Given the description of an element on the screen output the (x, y) to click on. 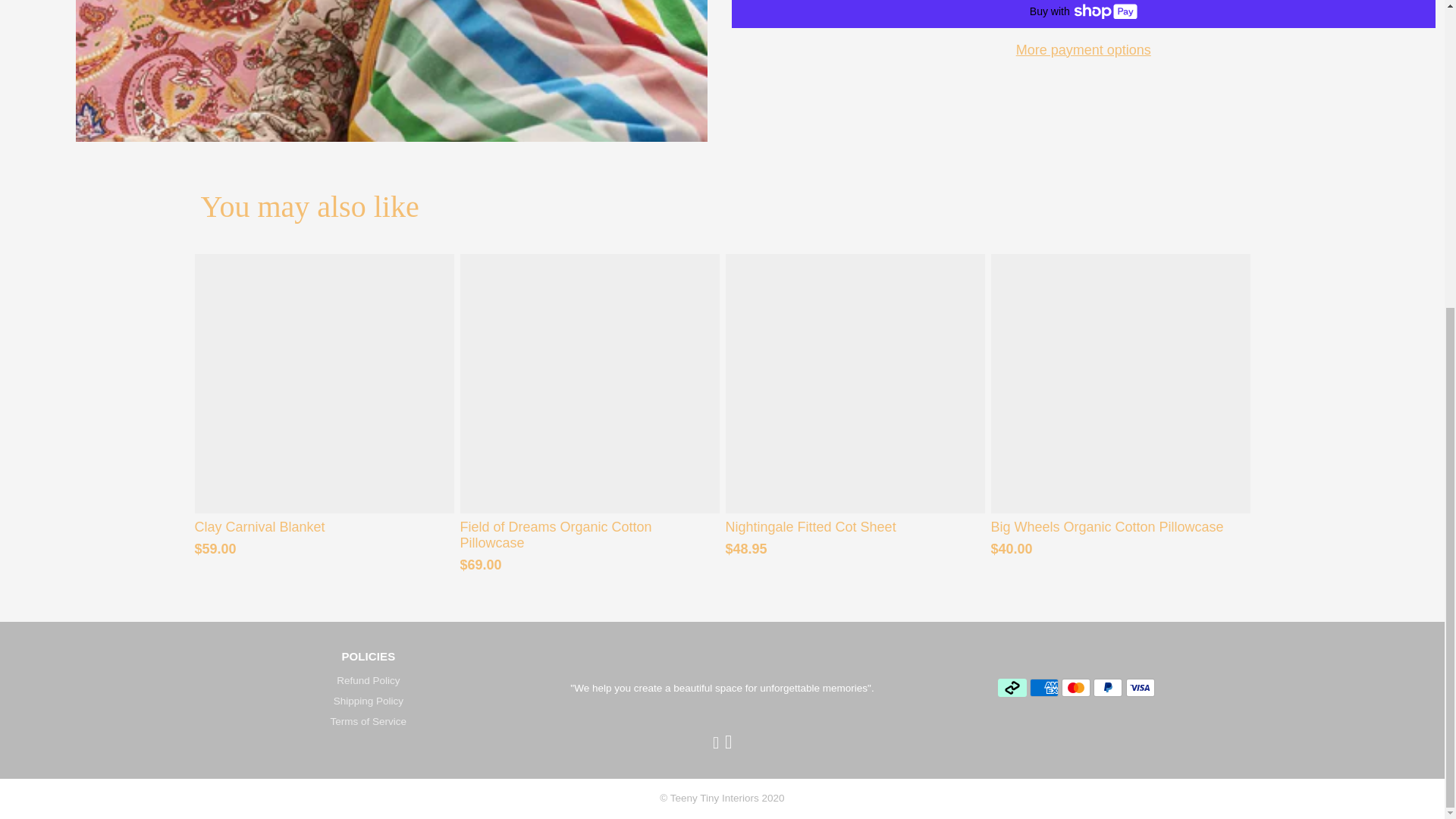
Visa (1139, 687)
Mastercard (1075, 687)
PayPal (1107, 687)
American Express (1043, 687)
Afterpay (1011, 687)
